Given the description of an element on the screen output the (x, y) to click on. 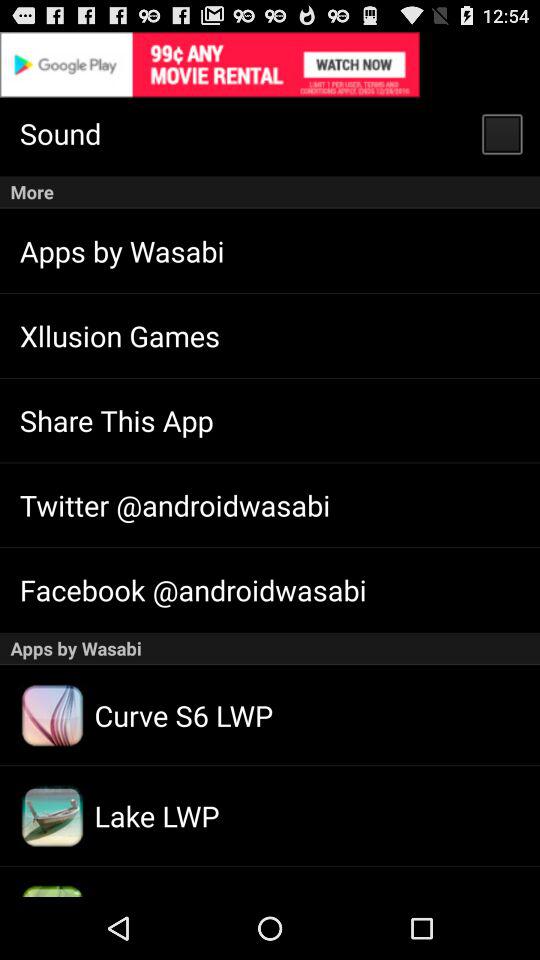
select the curve s6 lwp icon (52, 715)
